Given the description of an element on the screen output the (x, y) to click on. 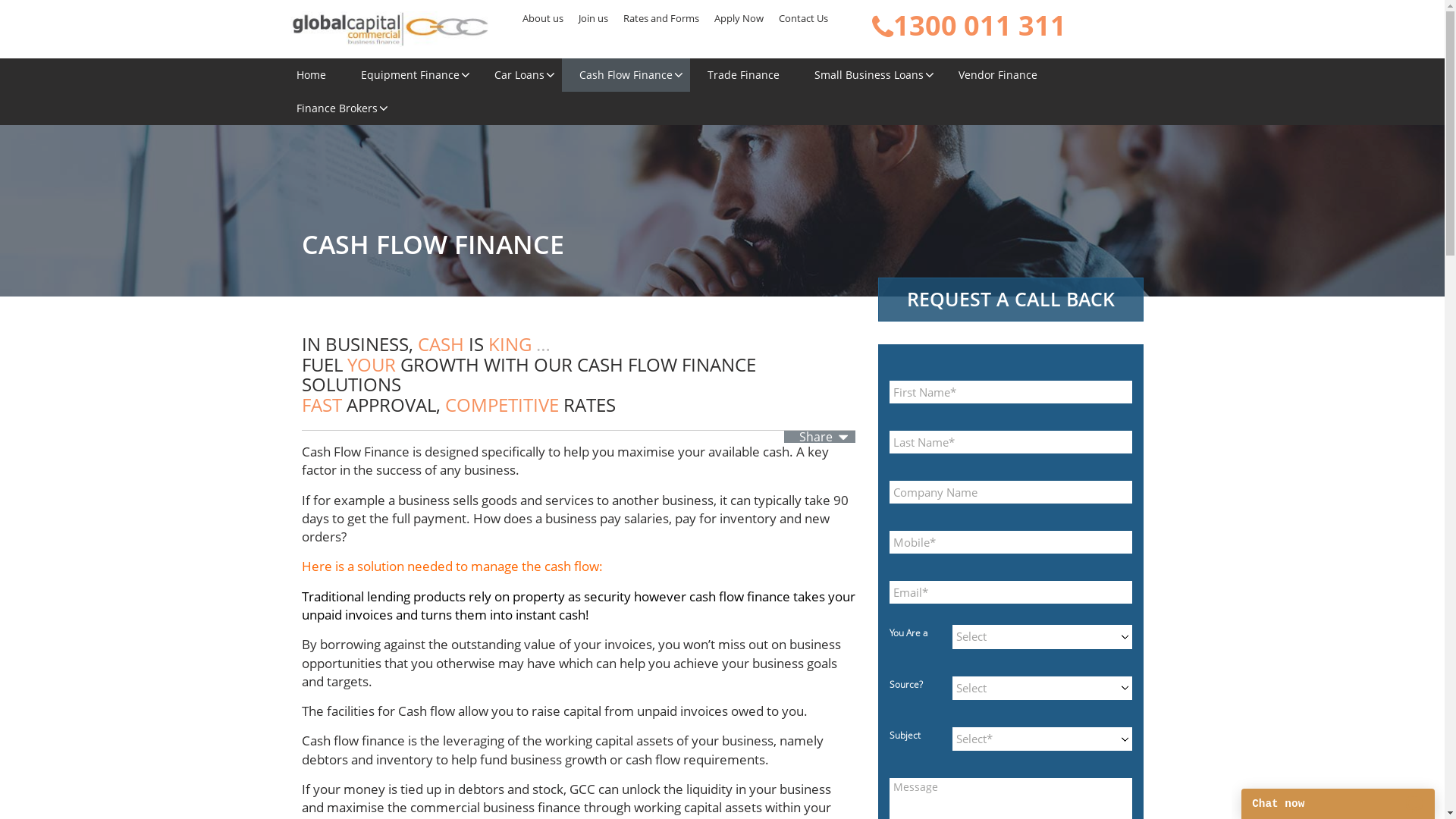
Cash Flow Finance Element type: text (625, 74)
Finance Brokers Element type: text (337, 108)
Share Element type: text (819, 436)
Join us Element type: text (593, 18)
Vendor Finance Element type: text (997, 74)
About us Element type: text (542, 18)
Rates and Forms Element type: text (661, 18)
Small Business Loans Element type: text (868, 74)
1300 011 311 Element type: text (969, 24)
Contact Us Element type: text (803, 18)
Car Loans Element type: text (518, 74)
Equipment Finance Element type: text (409, 74)
Commercial Business Loans & Finance | GCC Business Finance Element type: hover (389, 27)
Apply Now Element type: text (738, 18)
Trade Finance Element type: text (743, 74)
Home Element type: text (311, 74)
